Given the description of an element on the screen output the (x, y) to click on. 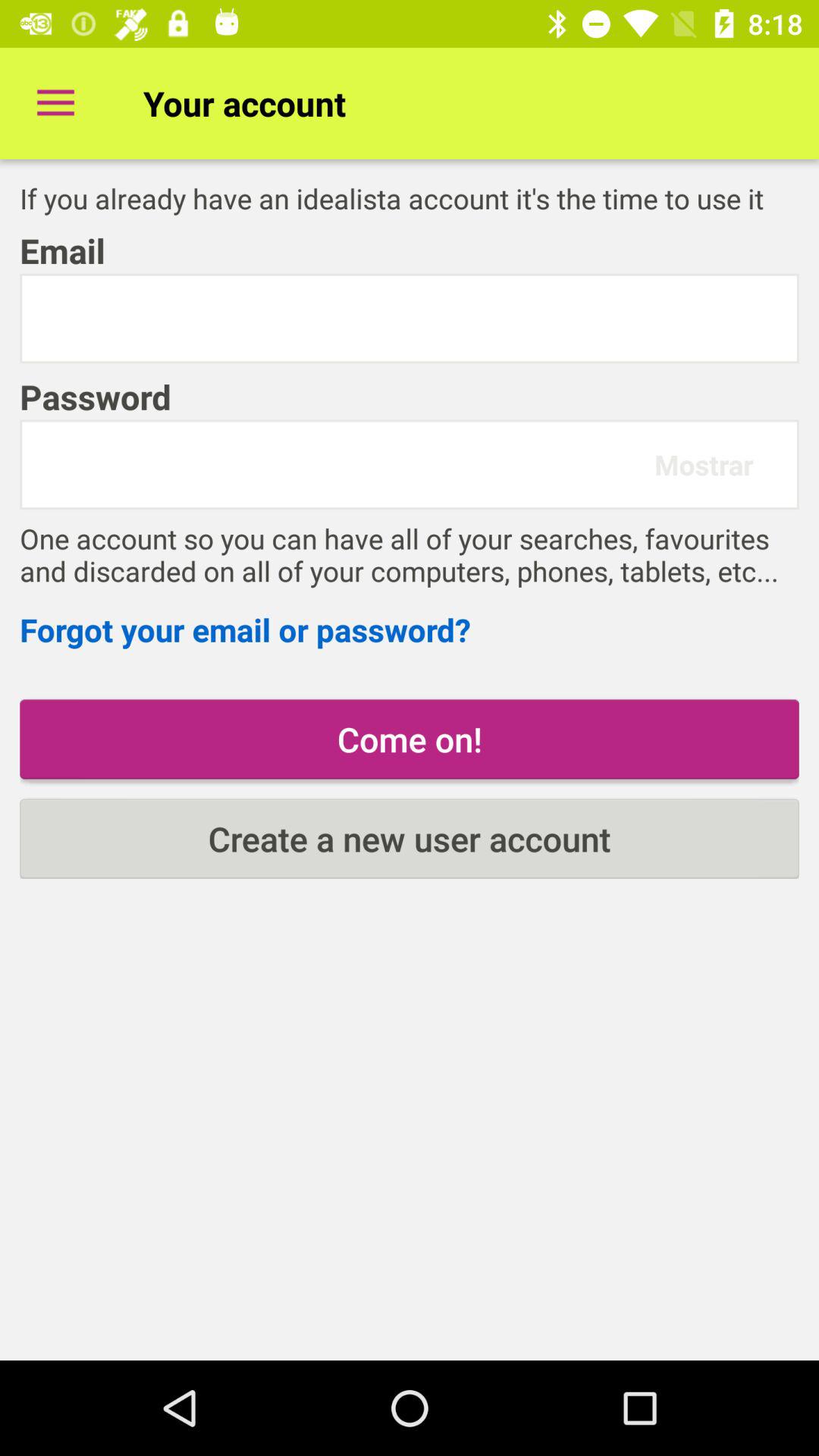
turn off the item below the forgot your email (409, 739)
